Given the description of an element on the screen output the (x, y) to click on. 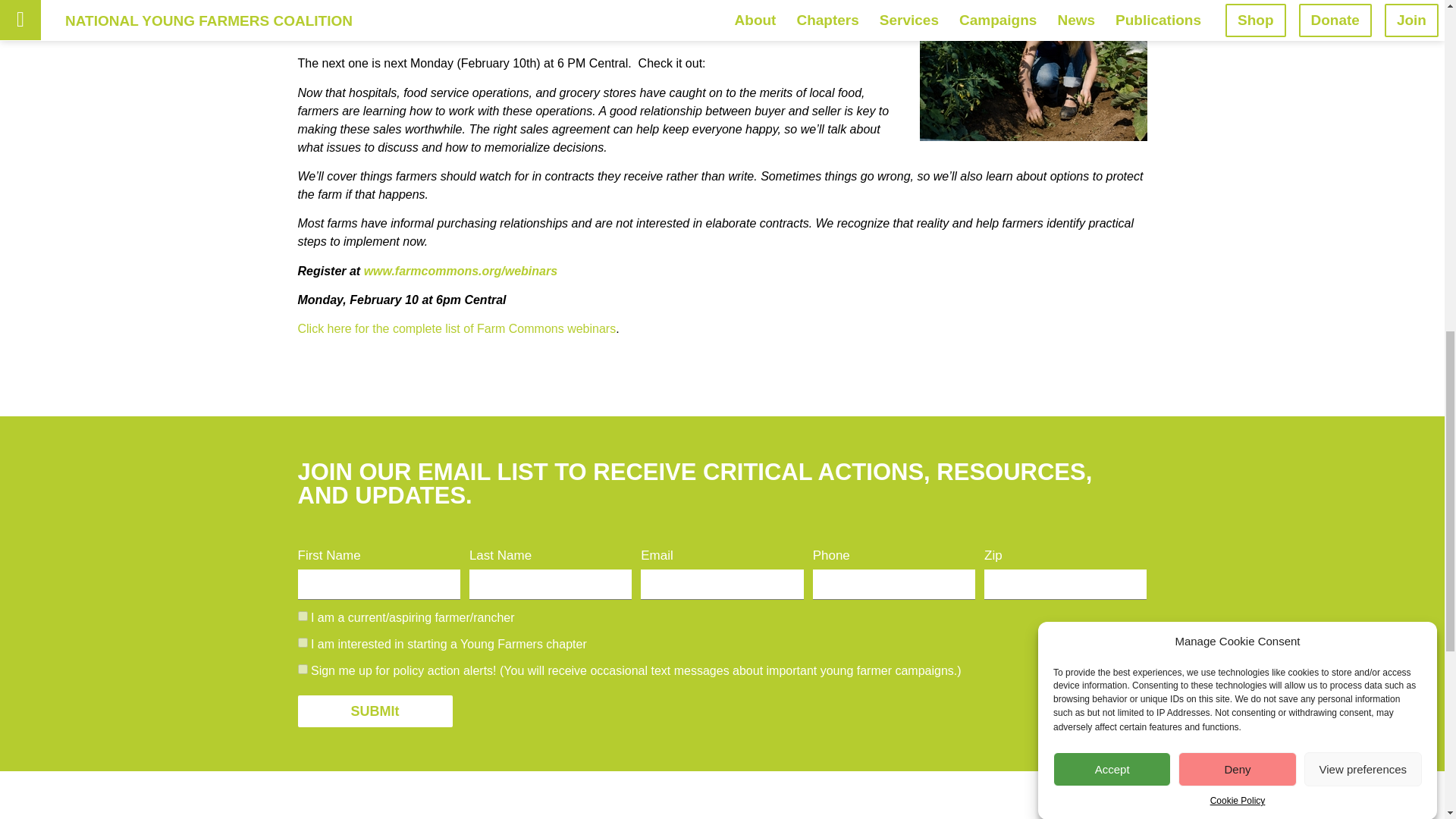
Accept (1111, 0)
I am interested in starting a Young Farmers chapter (302, 642)
